Given the description of an element on the screen output the (x, y) to click on. 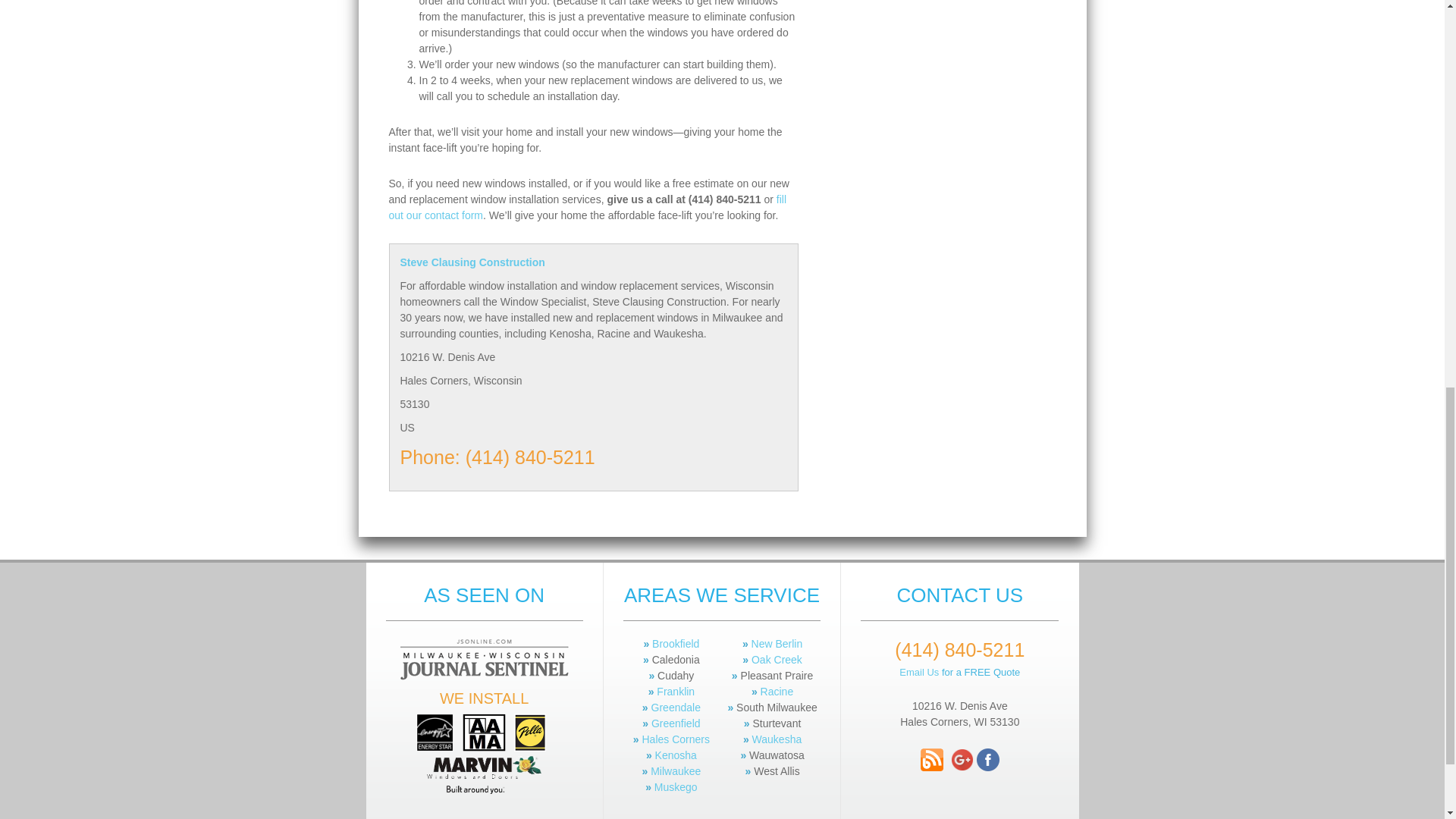
fill out our contact form (587, 207)
Steve Clausing Construction (593, 262)
